Given the description of an element on the screen output the (x, y) to click on. 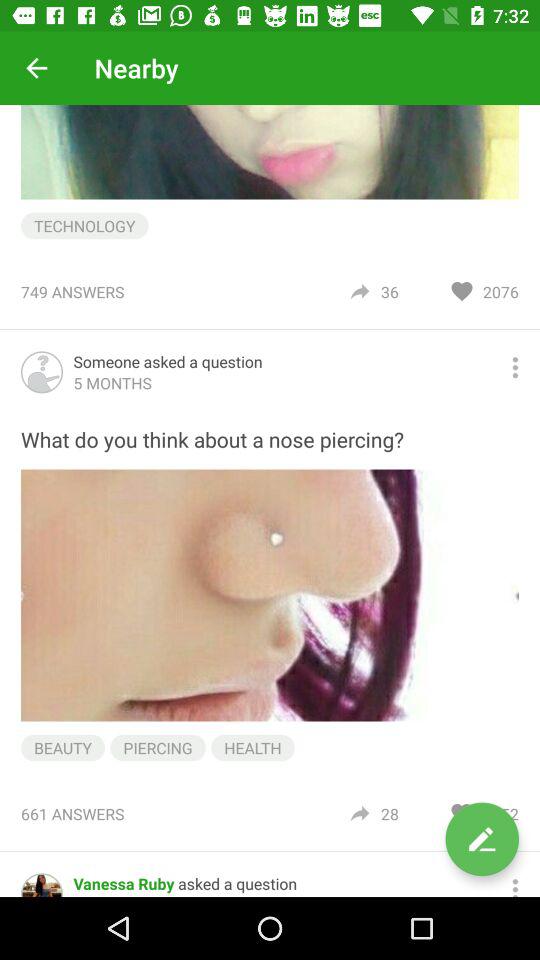
select more options (515, 885)
